Given the description of an element on the screen output the (x, y) to click on. 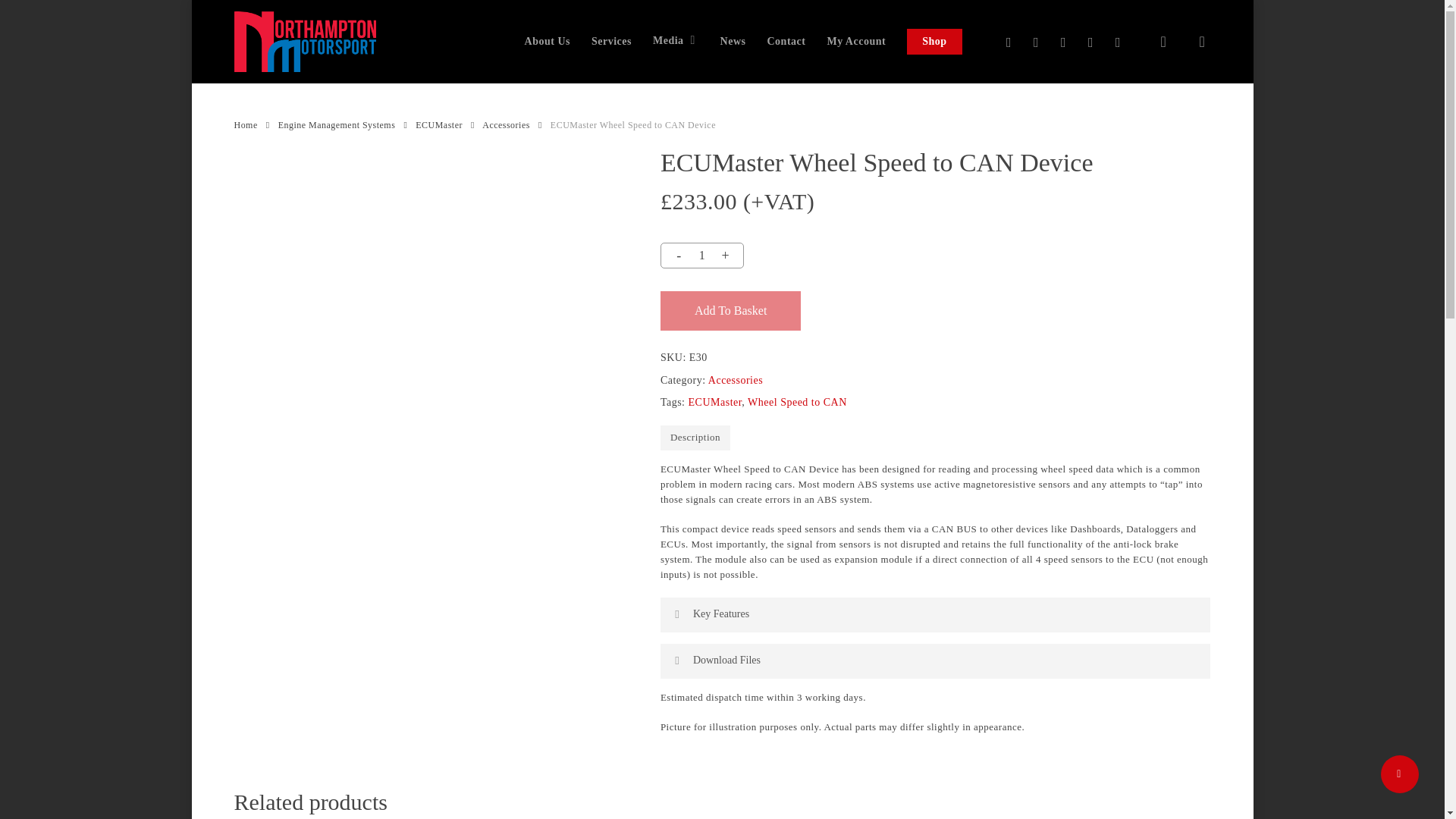
Home (244, 124)
About Us (546, 41)
Add To Basket (730, 310)
linkedin (1063, 41)
ECUMaster (438, 124)
ECUMaster (715, 401)
Services (611, 41)
My Account (855, 41)
twitter (1008, 41)
Accessories (505, 124)
